Given the description of an element on the screen output the (x, y) to click on. 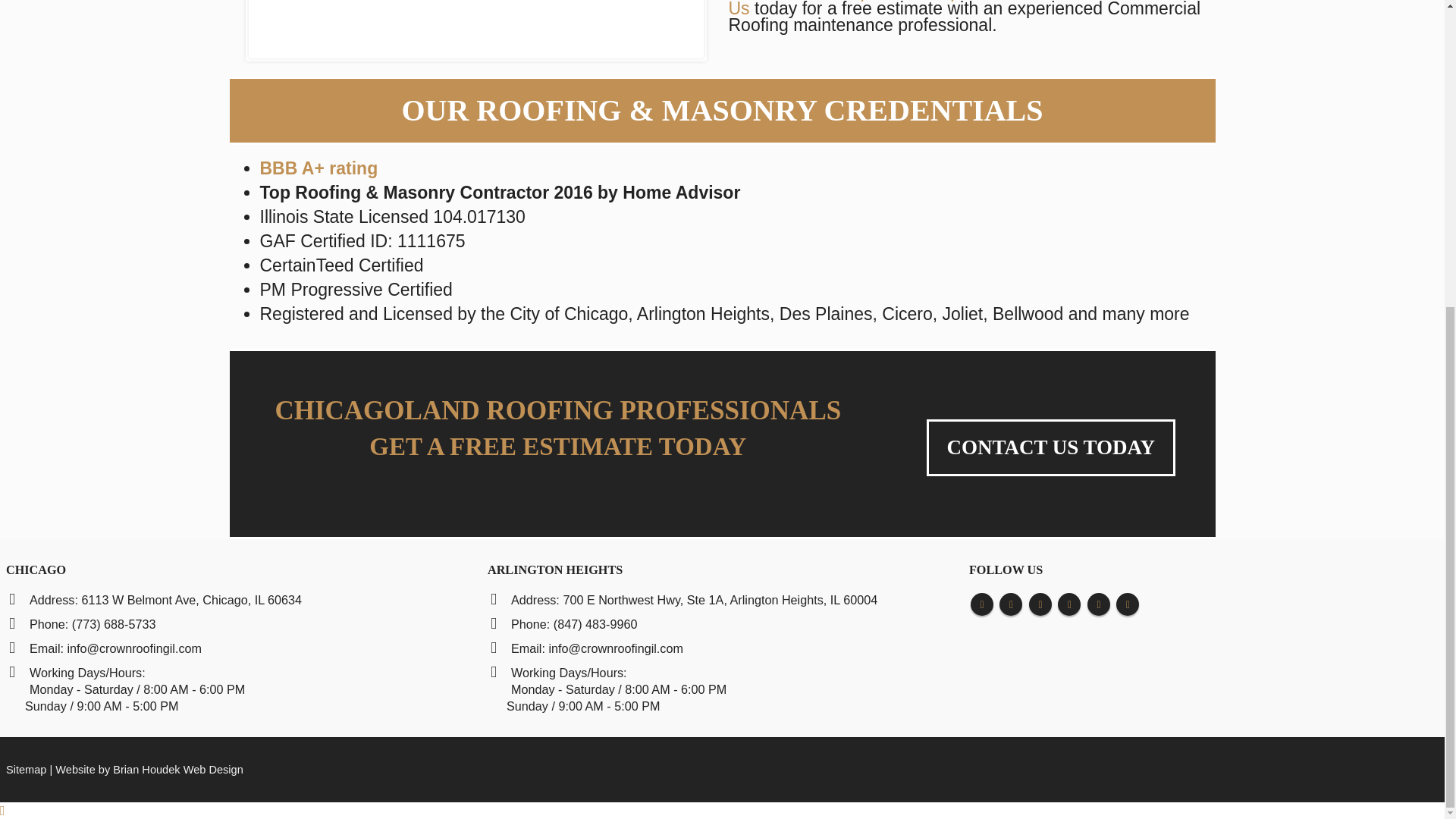
Crown Roofing Chicagoland Modified Bitumen Roof (475, 29)
Facebook (981, 603)
Yelp (1127, 603)
Twitter (1010, 603)
Instagram (1069, 603)
Youtube (1040, 603)
Linkedin (1098, 603)
